Given the description of an element on the screen output the (x, y) to click on. 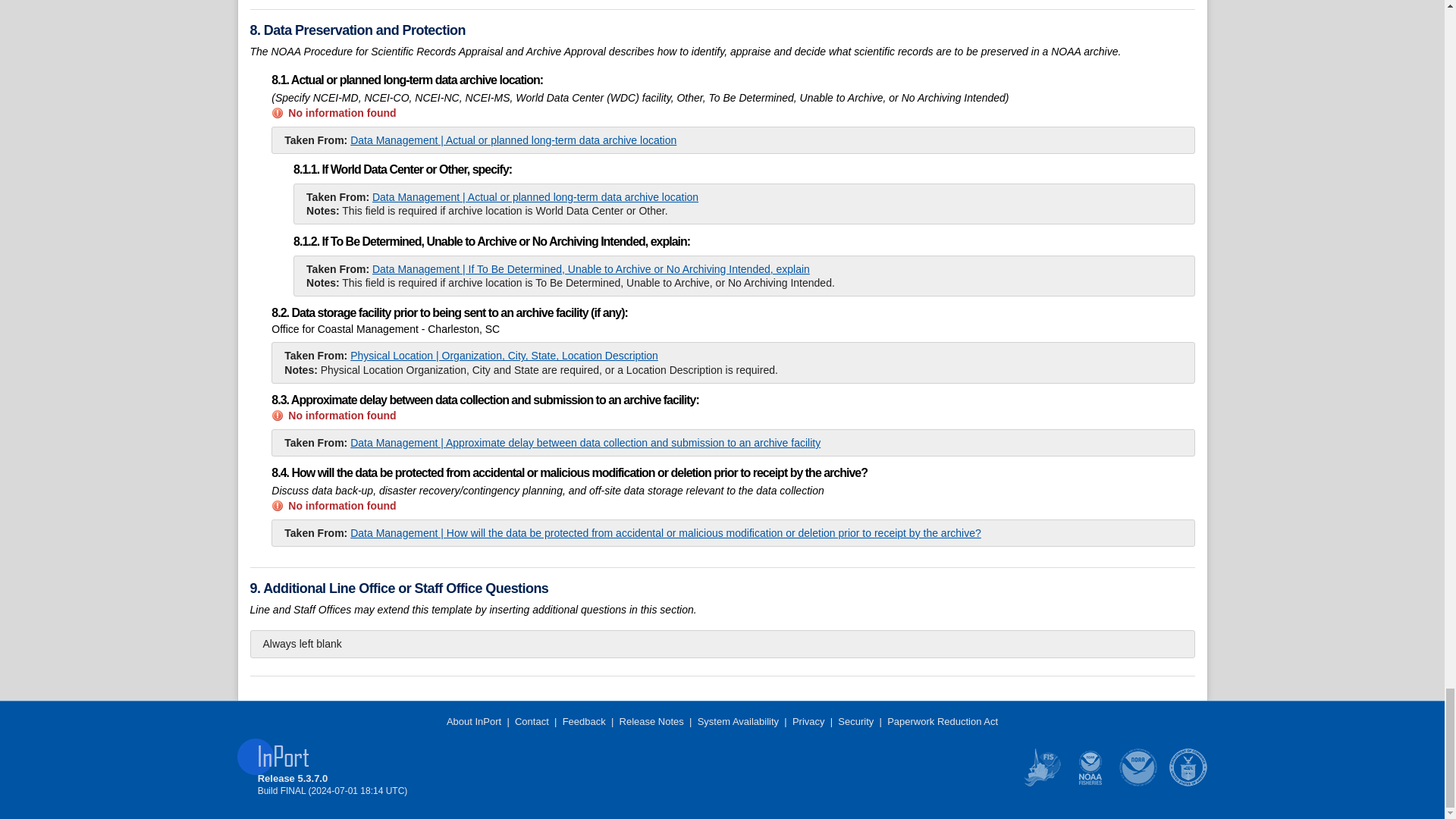
Fisheries Information System (1041, 783)
U.S. Department of Commerce (1187, 783)
NOAA Fisheries (1089, 783)
